Given the description of an element on the screen output the (x, y) to click on. 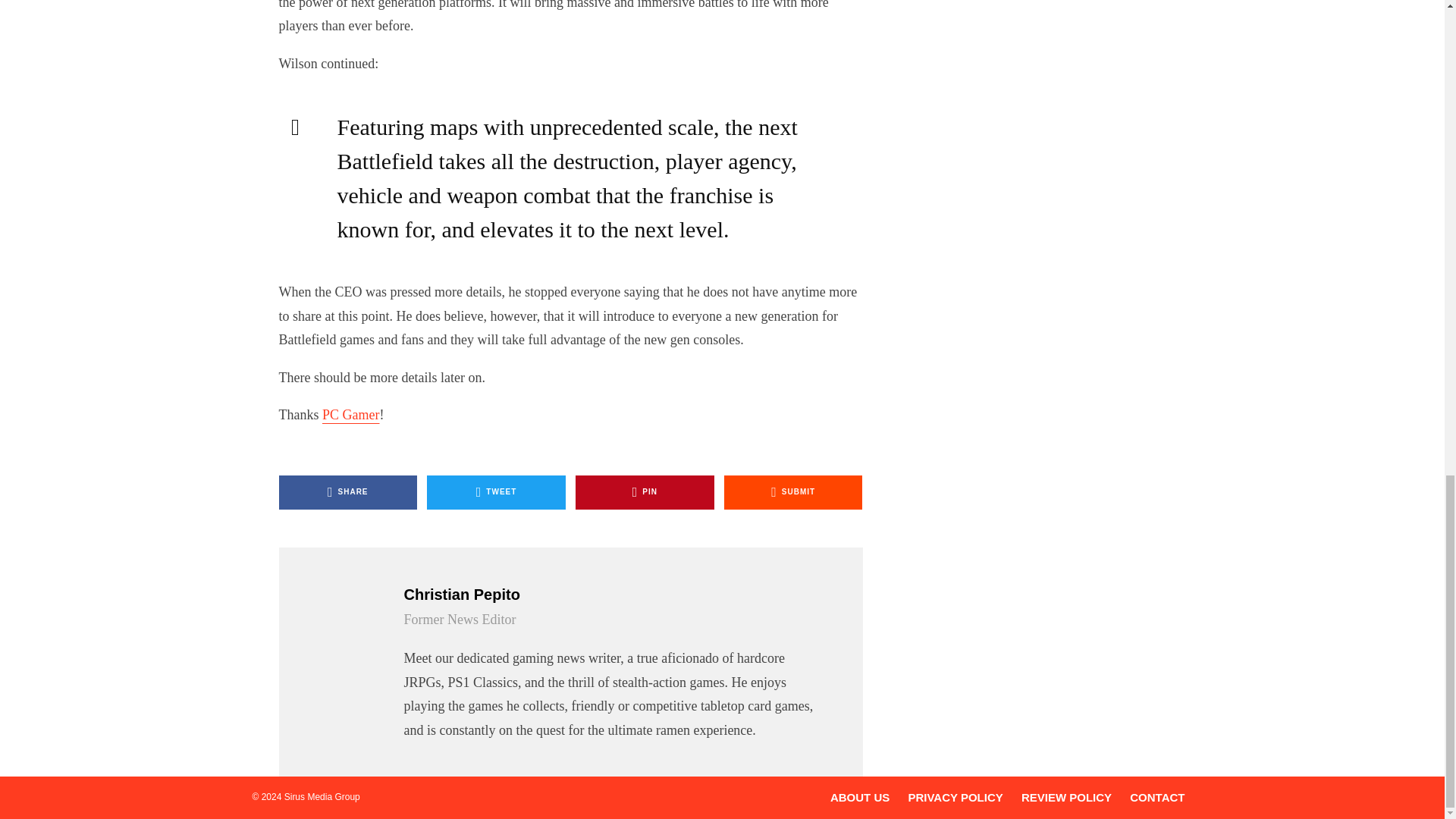
ABOUT US (859, 797)
CONTACT (1157, 797)
PC Gamer (350, 414)
REVIEW POLICY (1067, 797)
TWEET (496, 492)
SHARE (348, 492)
Christian Pepito (613, 594)
PIN (644, 492)
SUBMIT (793, 492)
PRIVACY POLICY (955, 797)
